Given the description of an element on the screen output the (x, y) to click on. 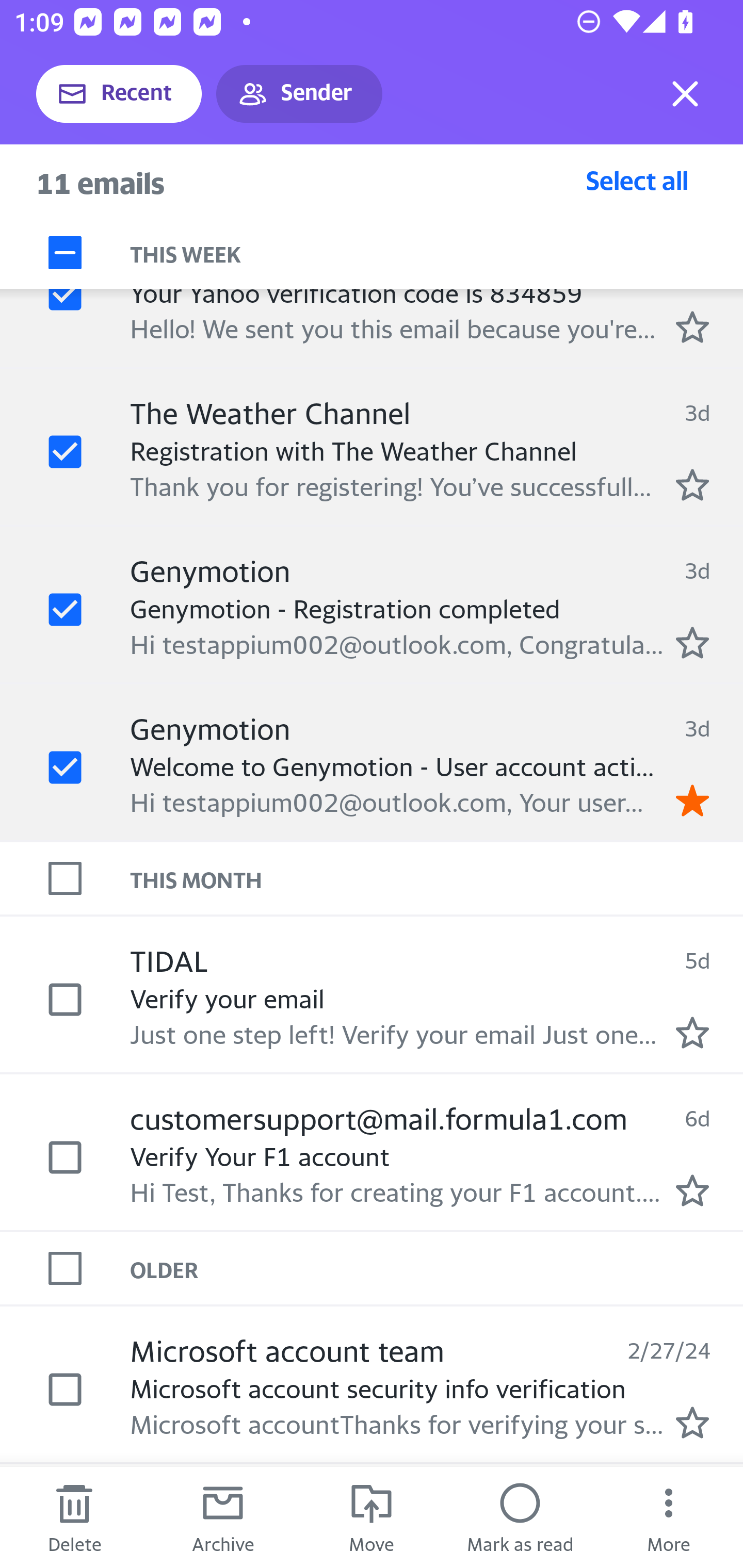
Sender (299, 93)
Exit selection mode (684, 93)
Select all (637, 180)
Mark as starred. (692, 326)
Mark as starred. (692, 485)
Mark as starred. (692, 642)
Remove star. (692, 800)
THIS MONTH (436, 878)
Mark as starred. (692, 1032)
Mark as starred. (692, 1190)
OLDER (436, 1267)
Mark as starred. (692, 1422)
Delete (74, 1517)
Archive (222, 1517)
Move (371, 1517)
Mark as read (519, 1517)
More (668, 1517)
